Given the description of an element on the screen output the (x, y) to click on. 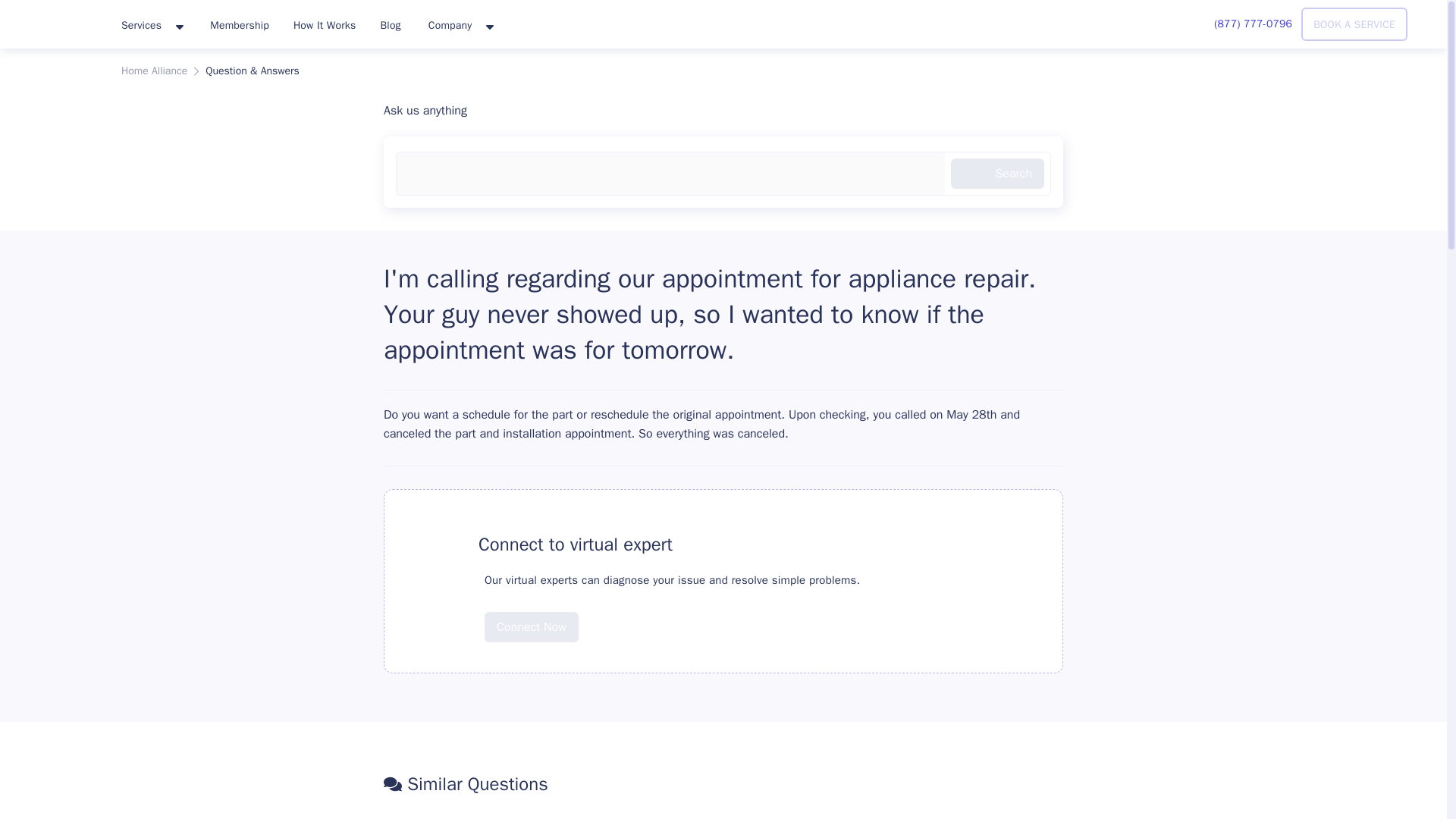
Connect Now (531, 615)
BOOK A SERVICE (1354, 23)
Services (151, 25)
FAQ (438, 544)
Membership (239, 24)
How It Works (324, 24)
Company (460, 25)
Search (996, 173)
Home Alliance (153, 70)
HomeAlliance (55, 20)
